Given the description of an element on the screen output the (x, y) to click on. 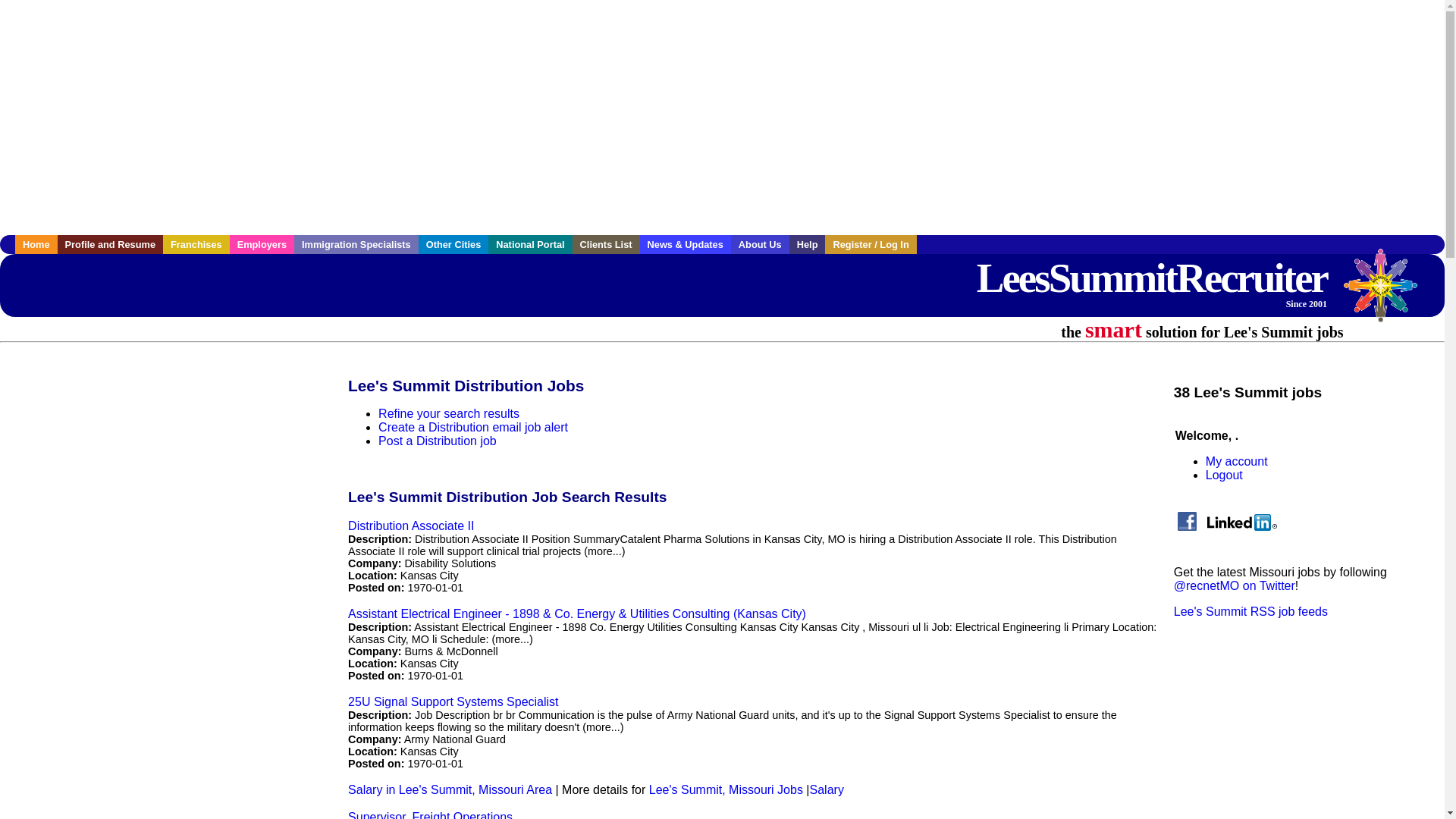
Lee (36, 244)
About Us (759, 244)
National Portal (529, 244)
Login to my Lee (870, 244)
Refine your search results (448, 413)
Supervisor, Freight Operations (429, 814)
Profile and Resume (110, 244)
Lee (356, 244)
Lee (262, 244)
Post a Lee's Summit job (437, 440)
25U Signal Support Systems Specialist (452, 701)
Immigration Specialists (356, 244)
Salary (826, 789)
National Portal (529, 244)
Advertisement (159, 463)
